Given the description of an element on the screen output the (x, y) to click on. 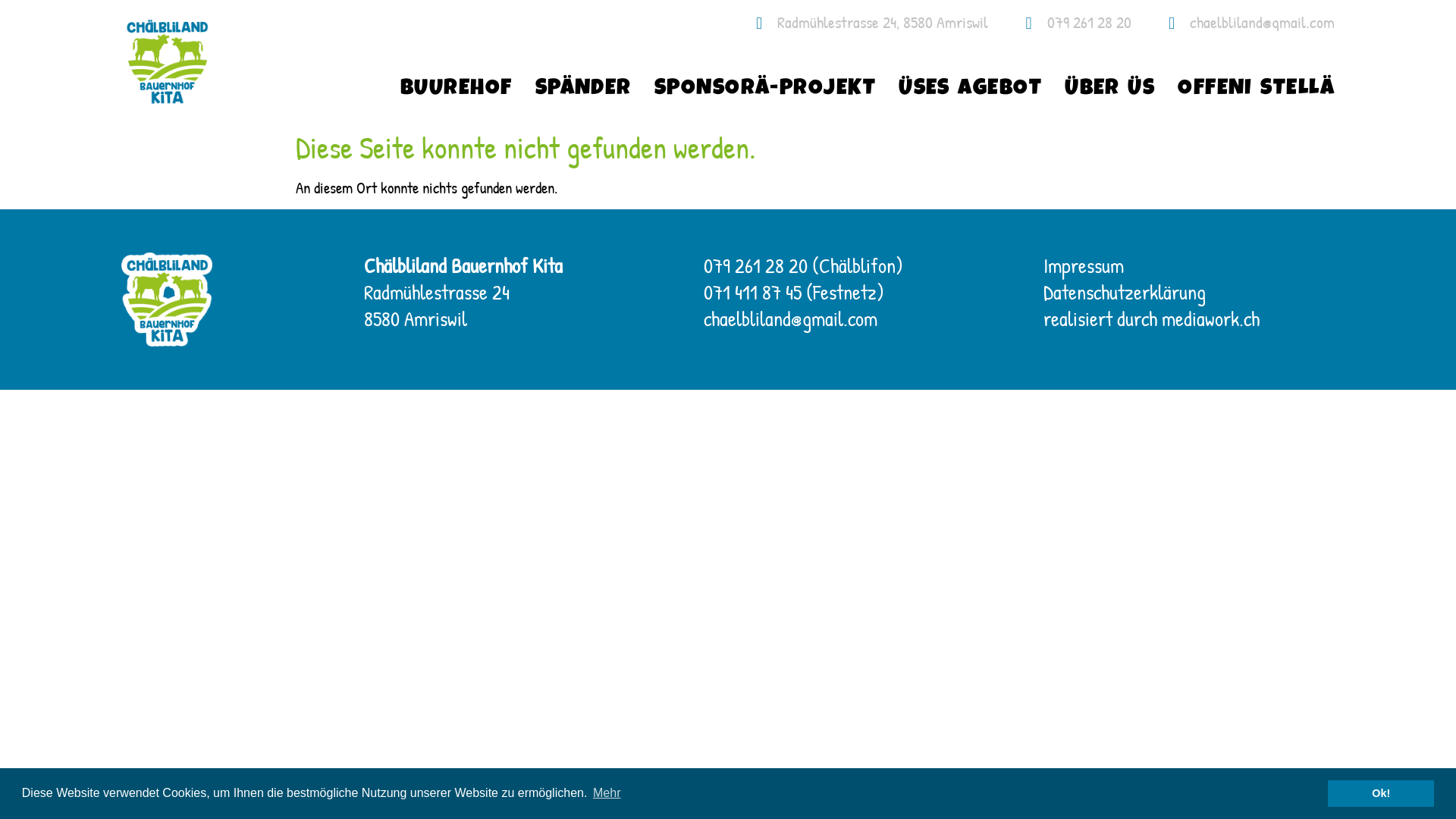
Ok! Element type: text (1380, 792)
079 261 28 20 Element type: text (1070, 22)
Mehr Element type: text (606, 792)
071 411 87 45 Element type: text (752, 291)
Impressum Element type: text (1083, 265)
BUUREHOF Element type: text (456, 89)
chaelbliland@gmail.com Element type: text (790, 318)
mediawork.ch Element type: text (1210, 318)
079 261 28 20 Element type: text (755, 265)
chaelbliland@gmail.com Element type: text (1244, 22)
